Given the description of an element on the screen output the (x, y) to click on. 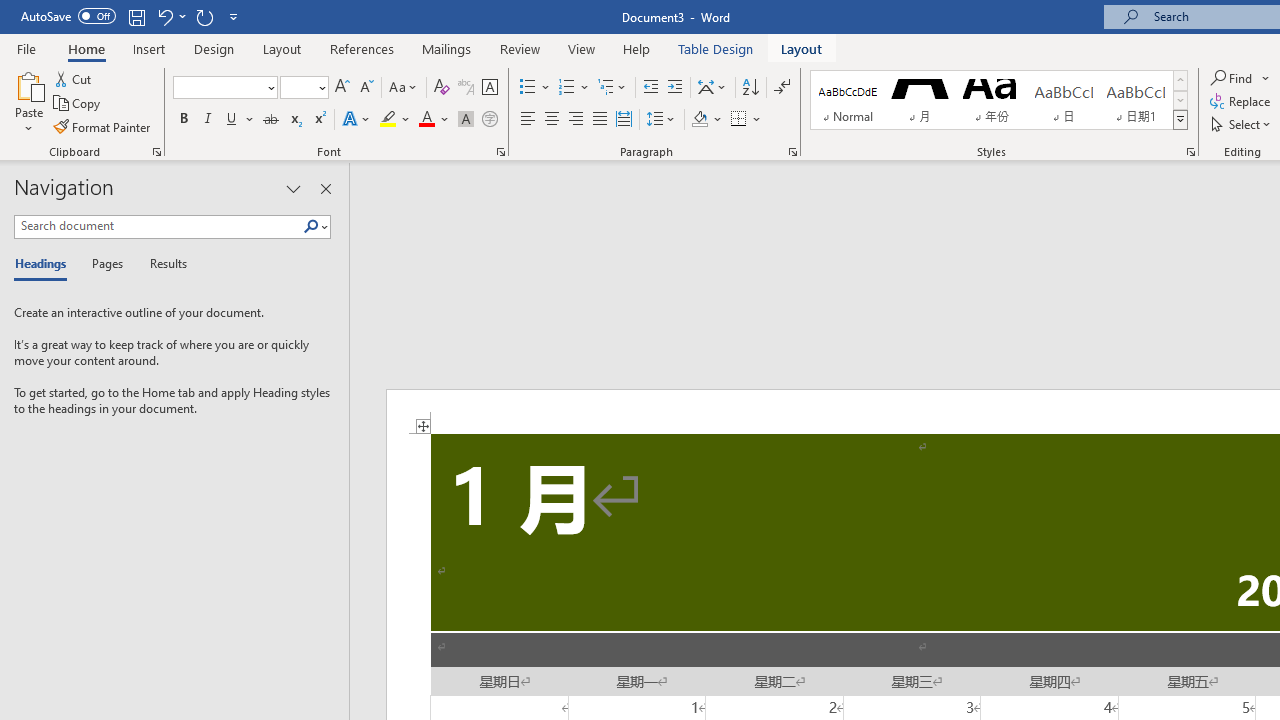
Undo Apply Quick Style (164, 15)
